Given the description of an element on the screen output the (x, y) to click on. 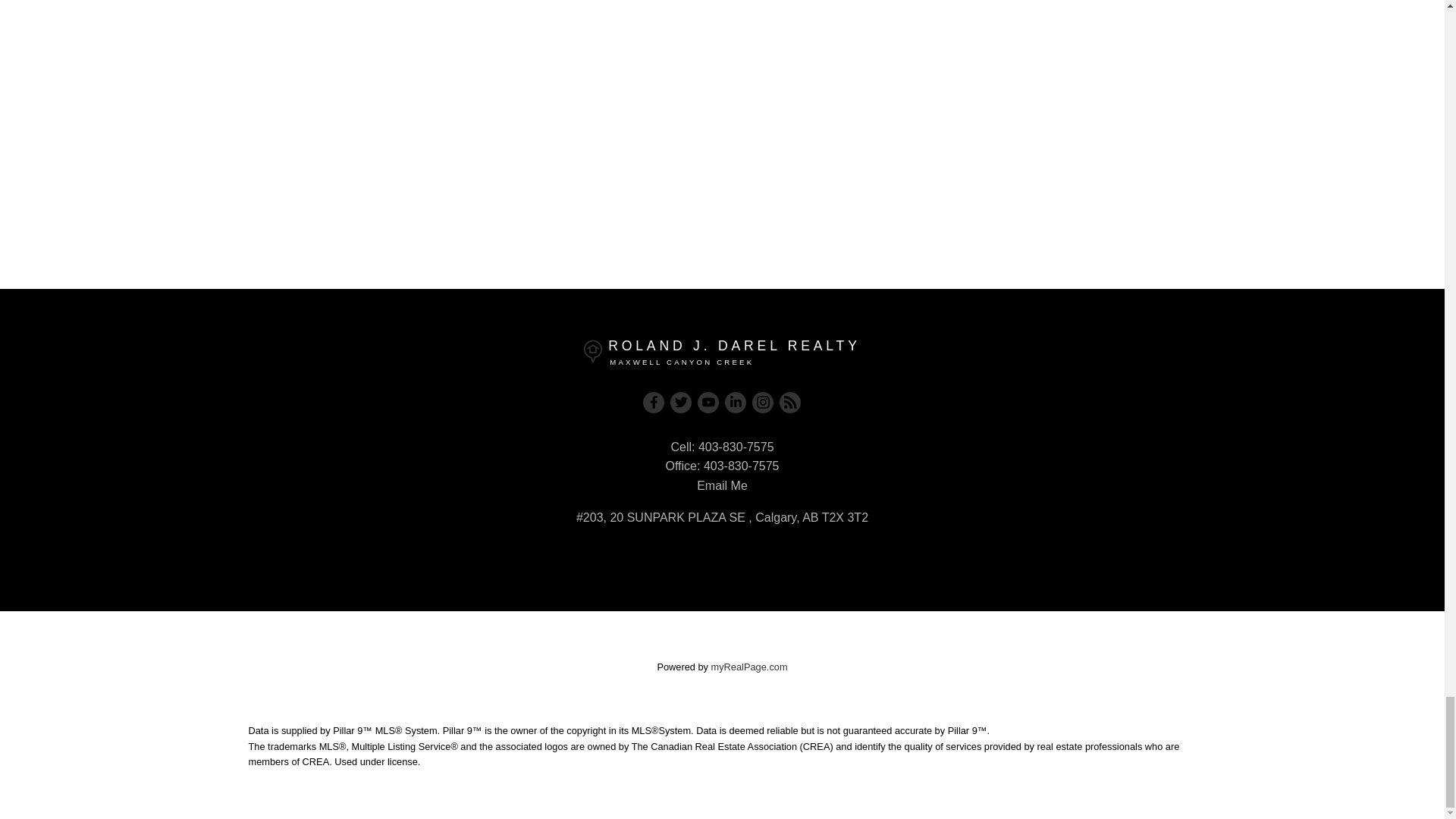
linkedin (735, 402)
instagram (762, 402)
Twitter (680, 402)
Blog (789, 402)
Facebook (653, 402)
YouTube (708, 402)
